Given the description of an element on the screen output the (x, y) to click on. 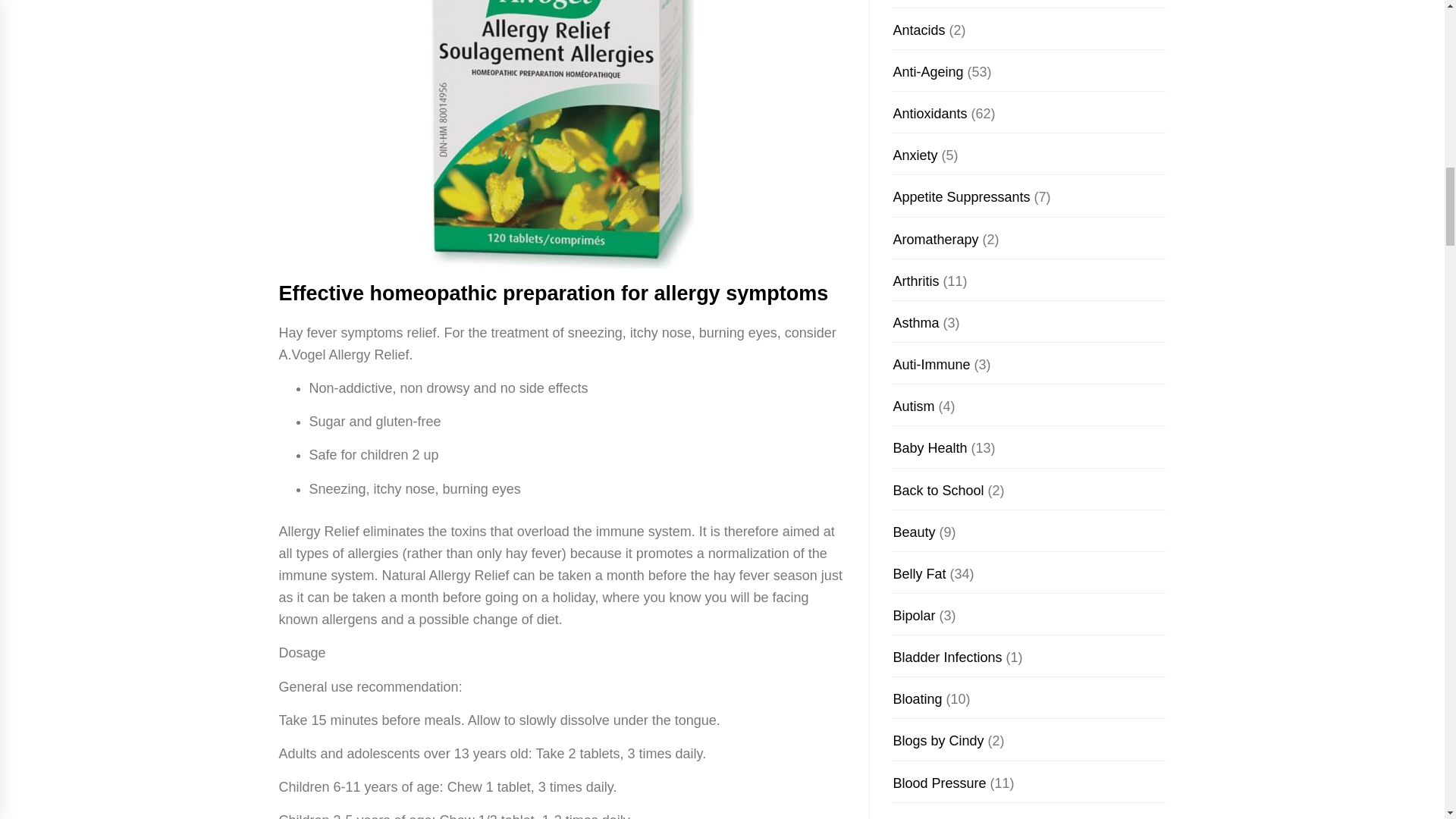
Anxiety (914, 155)
Anti-Ageing (927, 71)
Appetite Suppressants (960, 196)
Antacids (918, 29)
Antioxidants (929, 113)
